Given the description of an element on the screen output the (x, y) to click on. 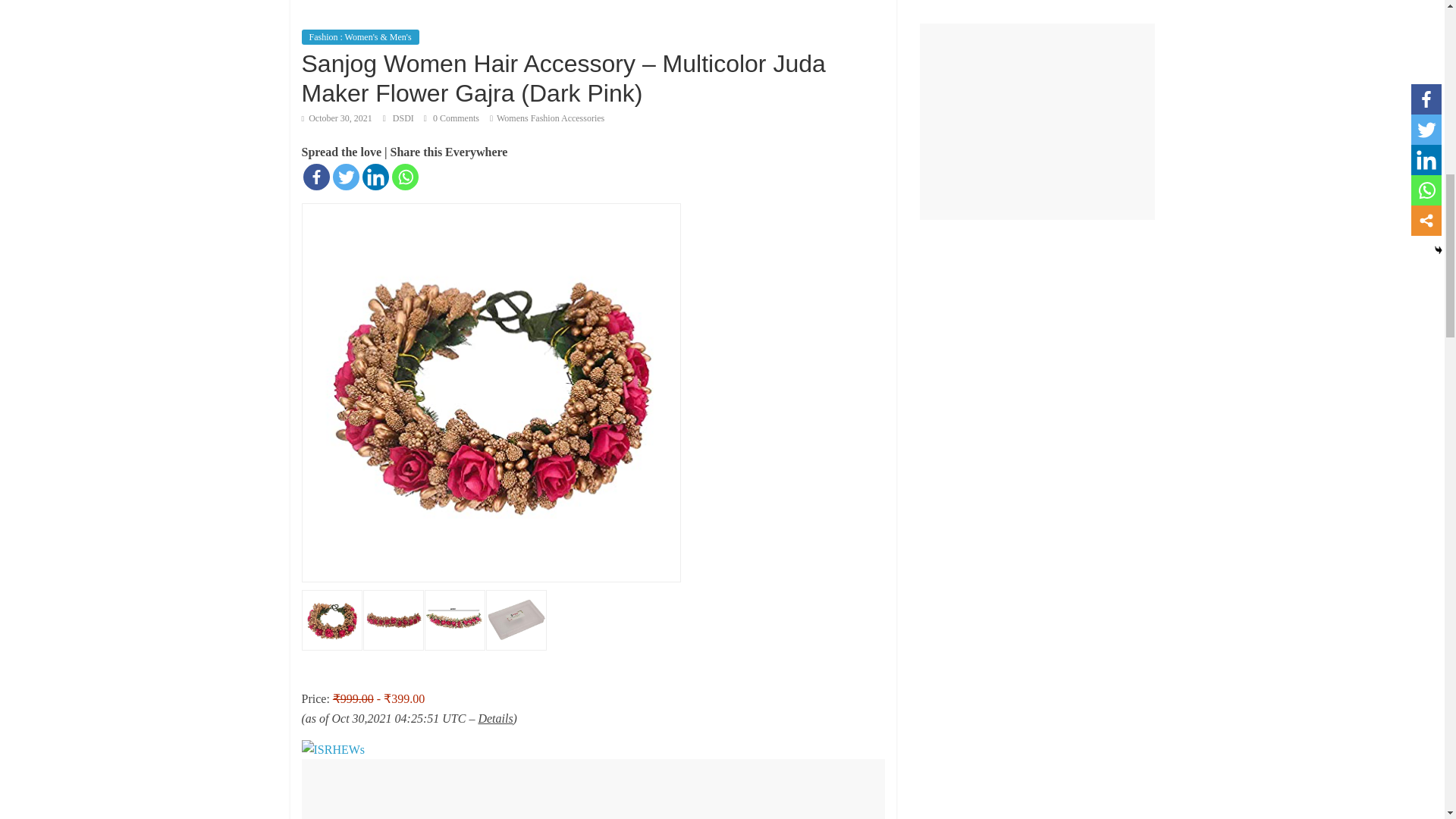
Whatsapp (404, 176)
Twitter (344, 176)
Womens Fashion Accessories (550, 118)
October 30, 2021 (336, 118)
Facebook (316, 176)
4:25 am (336, 118)
0 Comments (451, 118)
Linkedin (375, 176)
DSDI (404, 118)
DSDI (404, 118)
